Given the description of an element on the screen output the (x, y) to click on. 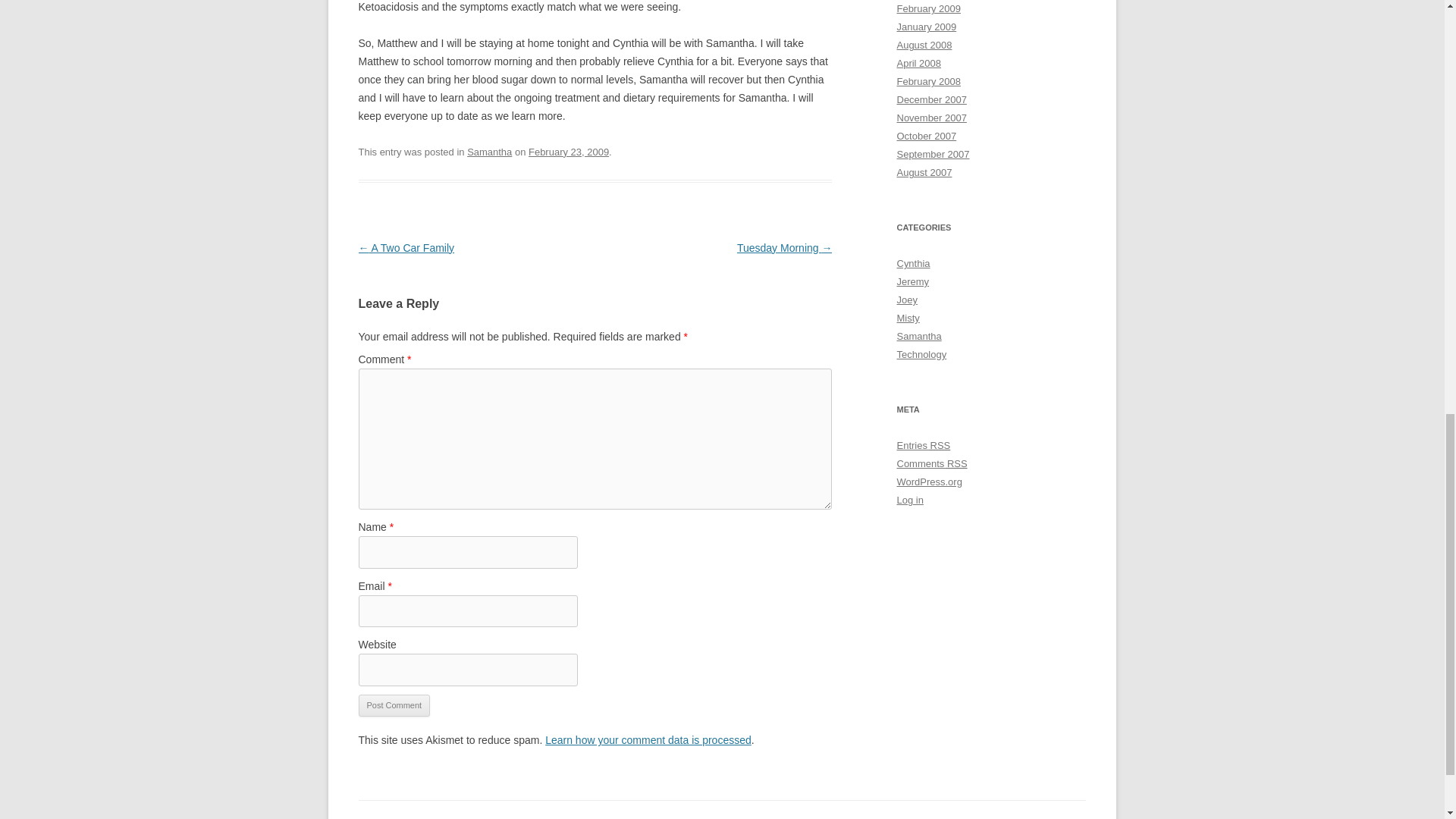
Really Simple Syndication (957, 463)
Post Comment (393, 705)
Post Comment (393, 705)
9:41 pm (568, 152)
Learn how your comment data is processed (647, 739)
February 23, 2009 (568, 152)
Samantha (489, 152)
Really Simple Syndication (940, 445)
